Given the description of an element on the screen output the (x, y) to click on. 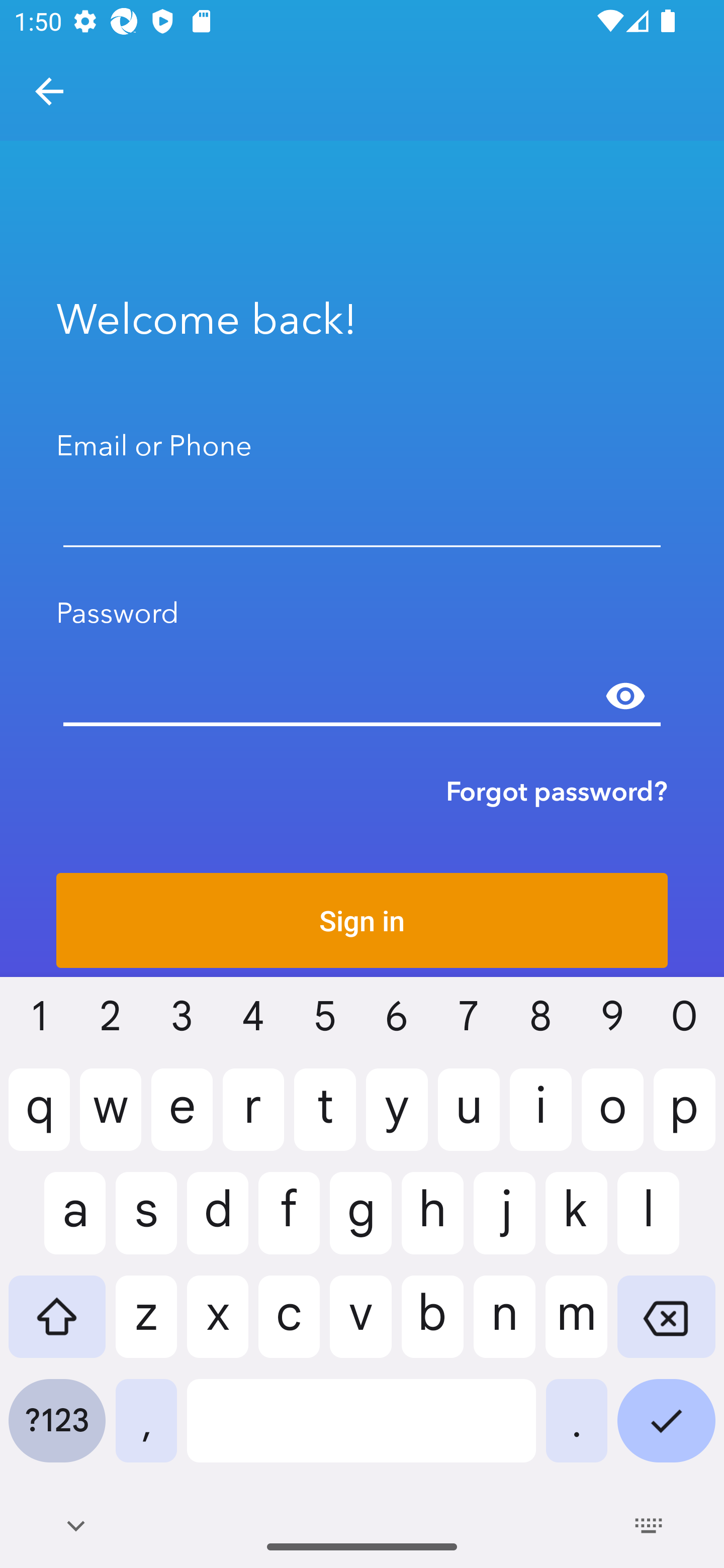
Navigate up (49, 91)
Show password (625, 695)
Forgot password? (556, 790)
Sign in (361, 920)
